Given the description of an element on the screen output the (x, y) to click on. 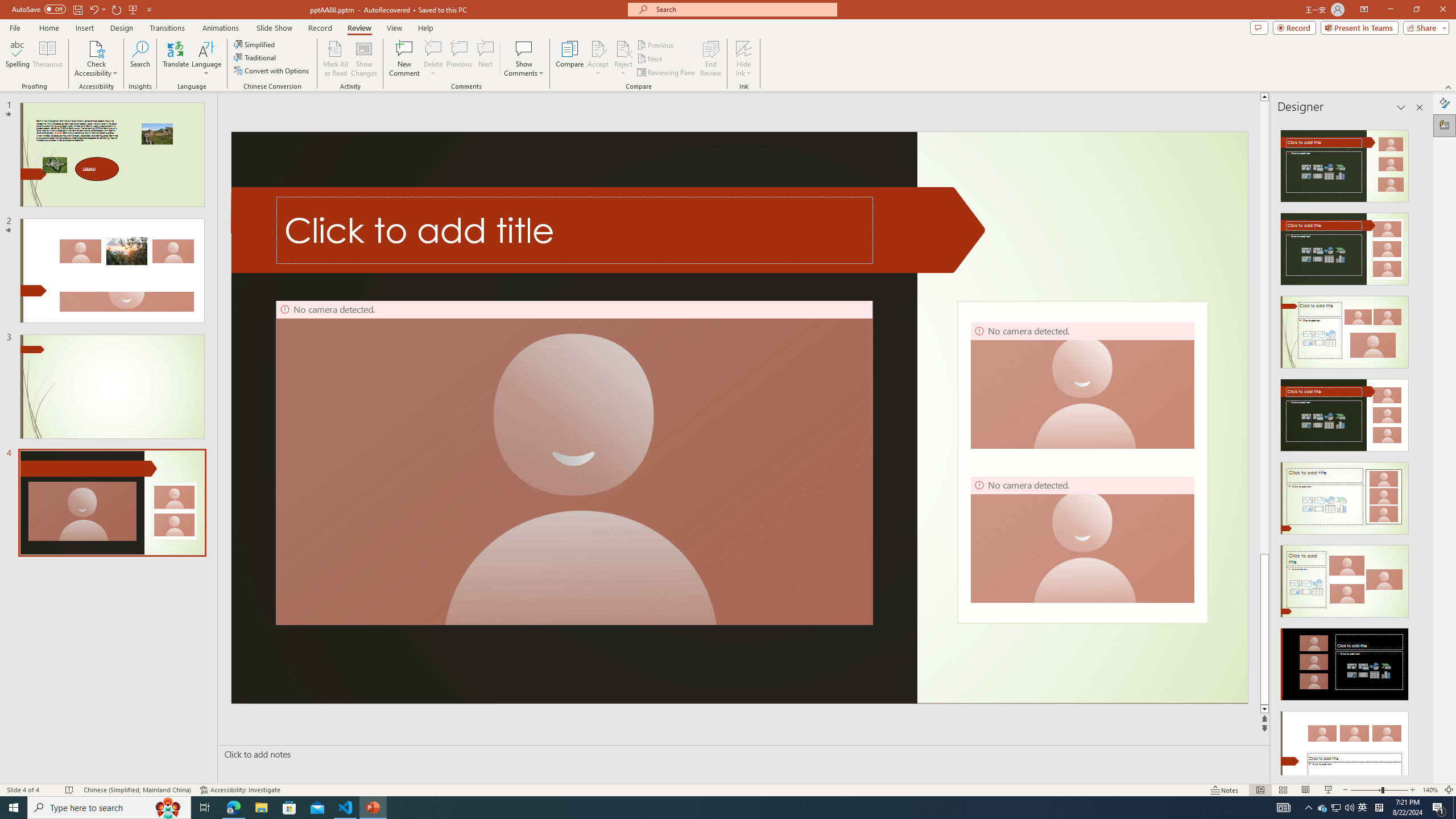
Traditional (255, 56)
Convert with Options... (272, 69)
Zoom 140% (1430, 790)
Reviewing Pane (666, 72)
Designer (1444, 125)
Show Changes (363, 58)
Show Comments (524, 58)
